Given the description of an element on the screen output the (x, y) to click on. 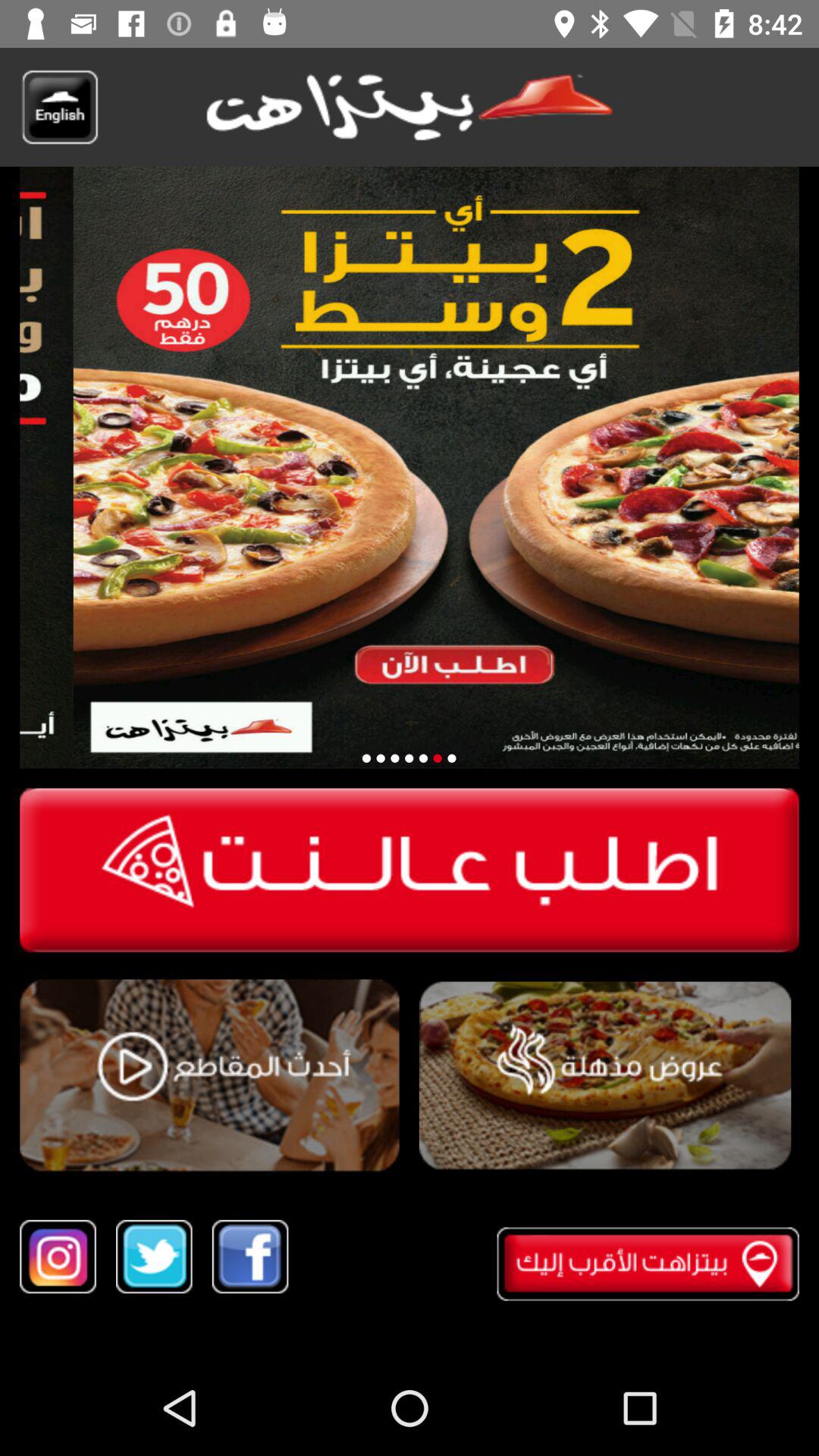
toggle slideshow right (451, 758)
